Given the description of an element on the screen output the (x, y) to click on. 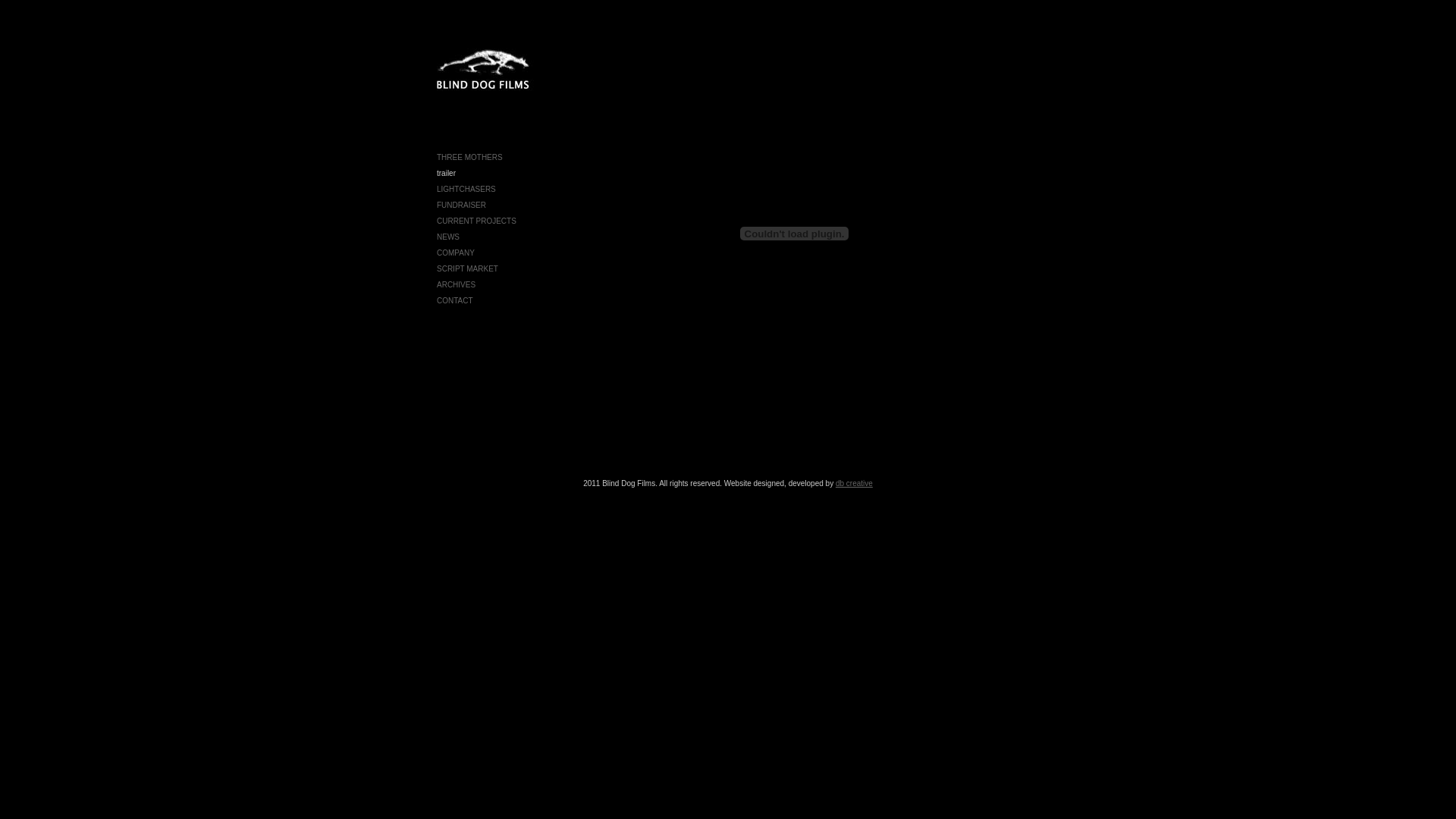
SCRIPT MARKET Element type: text (467, 267)
FUNDRAISER Element type: text (461, 204)
ARCHIVES Element type: text (455, 284)
trailer Element type: text (445, 172)
NEWS Element type: text (447, 236)
CONTACT Element type: text (454, 299)
THREE MOTHERS Element type: text (469, 157)
COMPANY Element type: text (455, 252)
LIGHTCHASERS Element type: text (465, 189)
db creative Element type: text (853, 483)
CURRENT PROJECTS Element type: text (476, 220)
